Given the description of an element on the screen output the (x, y) to click on. 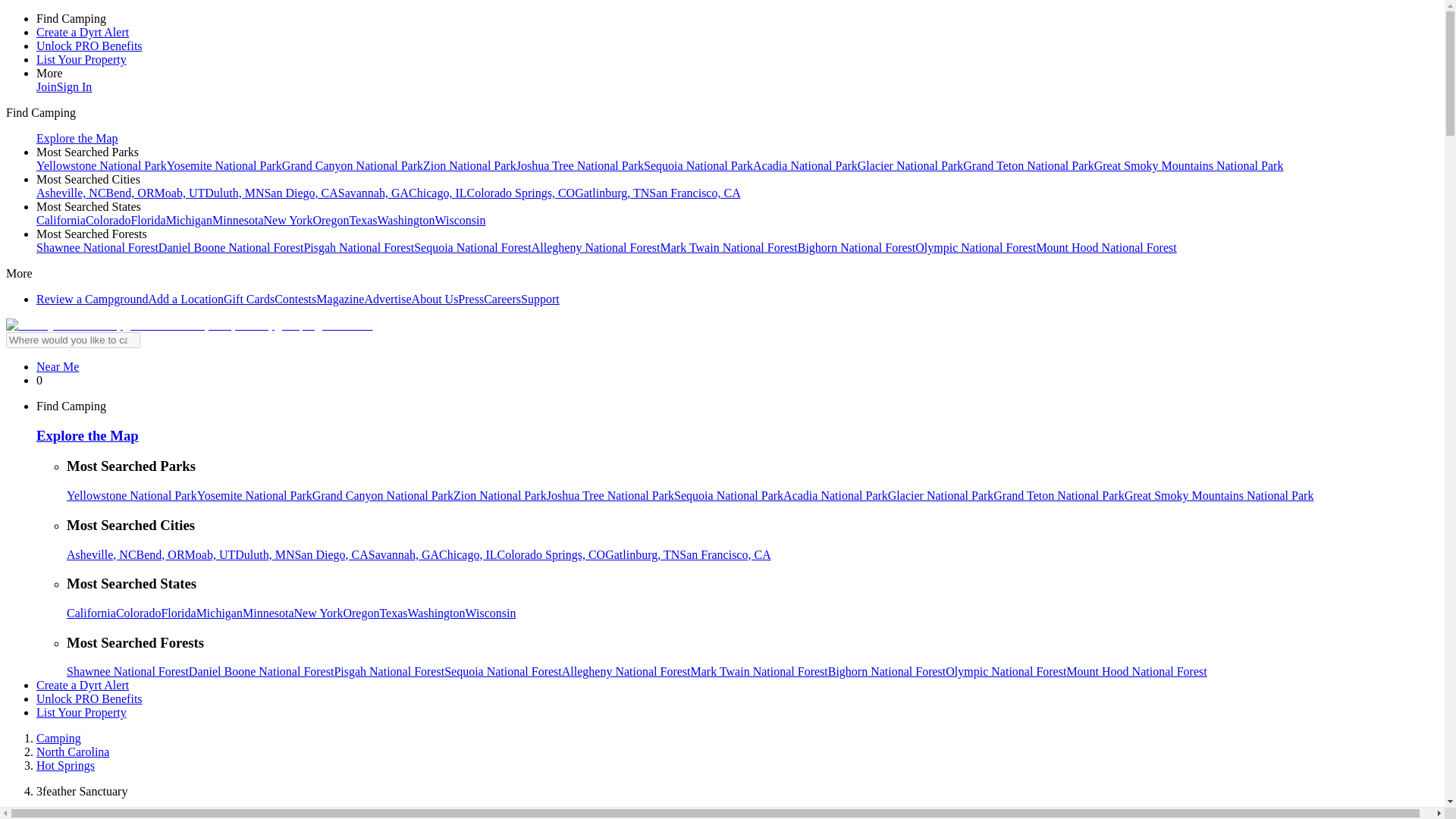
Moab, UT (179, 192)
California (60, 219)
Sequoia National Park (697, 164)
Pisgah National Forest (357, 246)
Sign In (74, 86)
Michigan (188, 219)
Join (46, 86)
Gatlinburg, TN (612, 192)
Unlock PRO Benefits (89, 45)
Explore the Map (76, 137)
Joshua Tree National Park (579, 164)
Asheville, NC (71, 192)
Grand Canyon National Park (352, 164)
Washington (406, 219)
Oregon (331, 219)
